Given the description of an element on the screen output the (x, y) to click on. 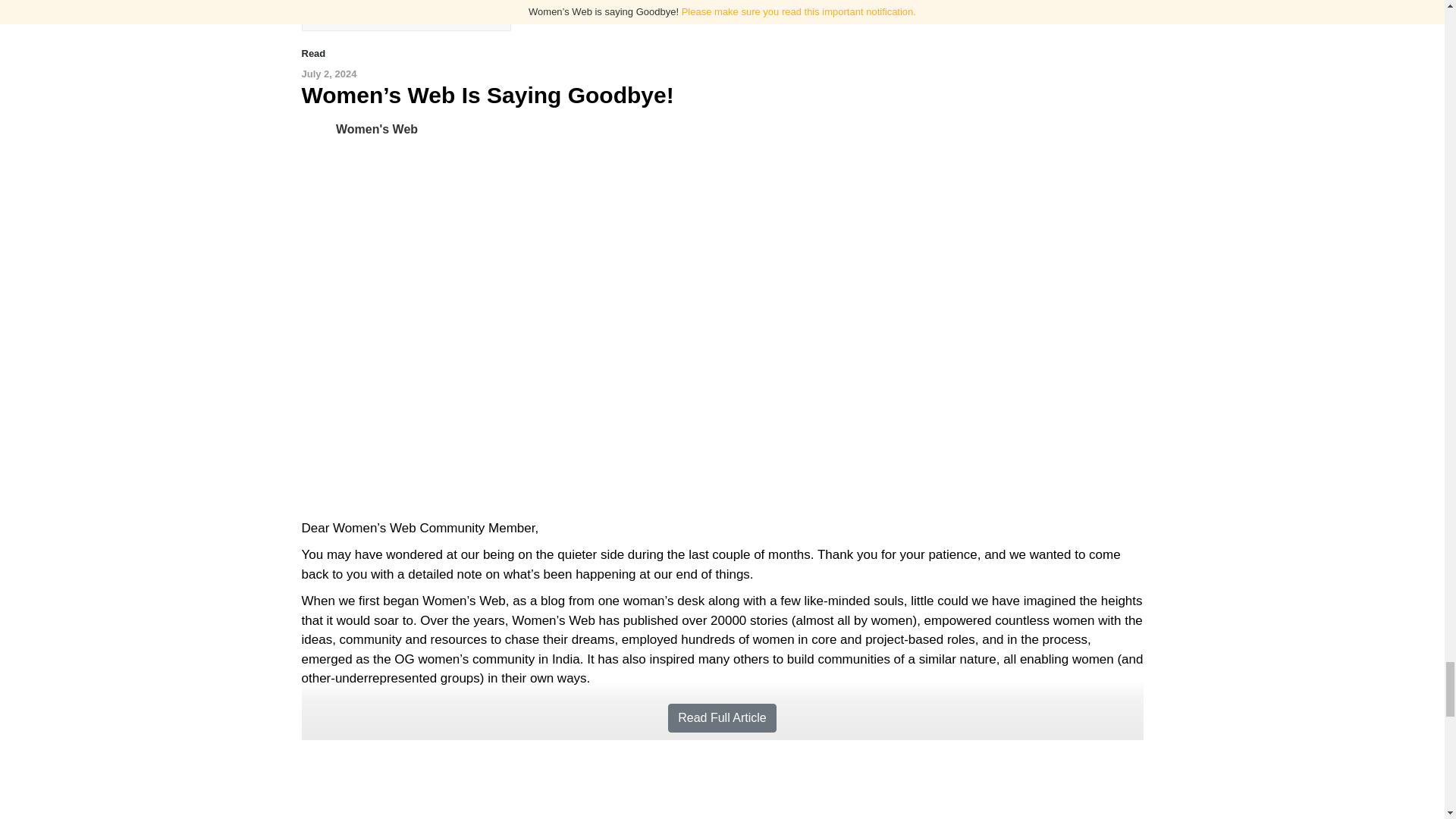
Women's Web (318, 128)
Women's Web (376, 128)
